Given the description of an element on the screen output the (x, y) to click on. 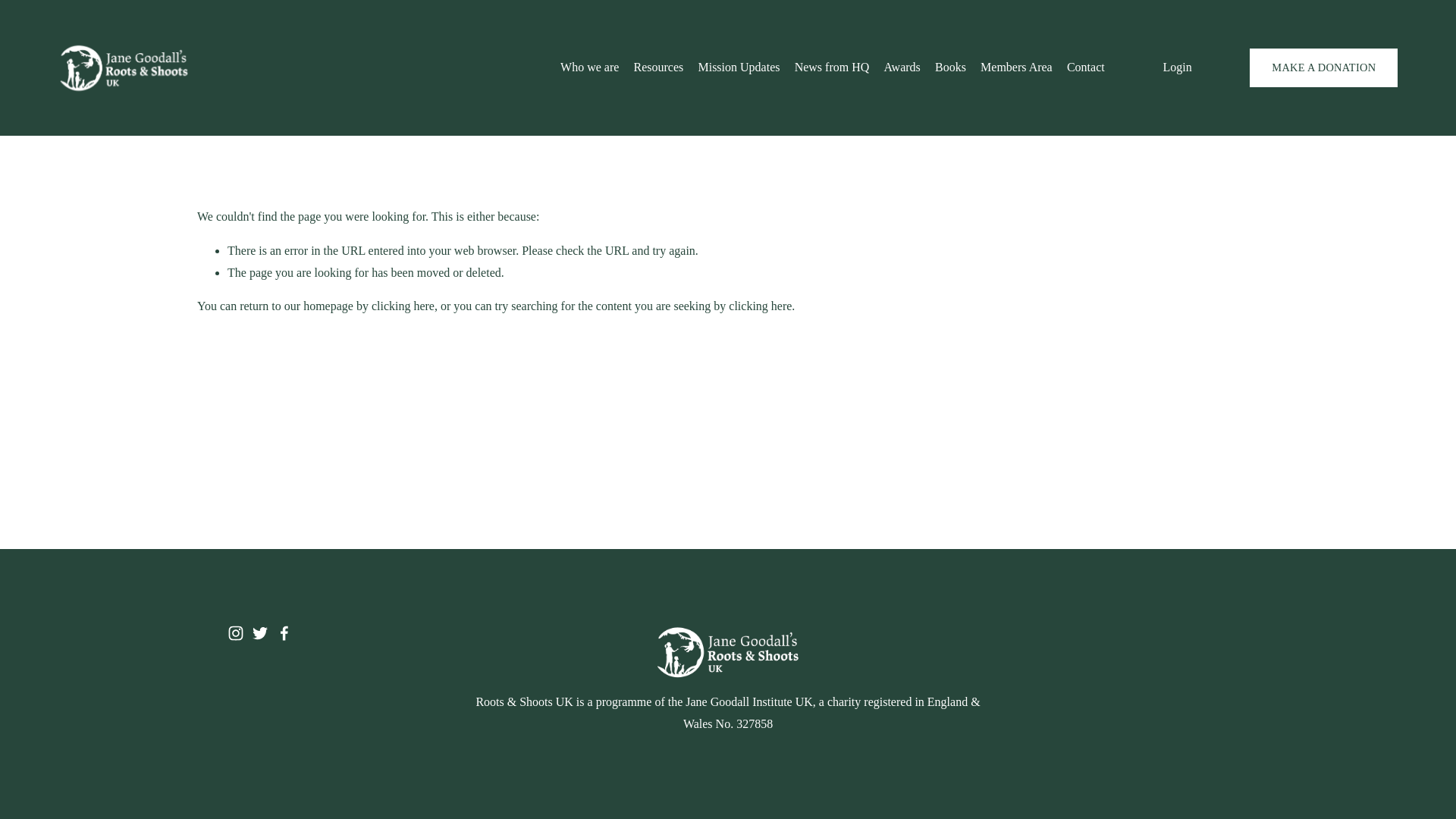
Who we are (589, 68)
clicking here (402, 305)
Books (950, 68)
Resources (658, 68)
Contact (1086, 68)
News from HQ (831, 68)
clicking here (760, 305)
Awards (901, 68)
Mission Updates (737, 68)
Members Area (1015, 68)
Login (1176, 67)
MAKE A DONATION (1323, 67)
